Given the description of an element on the screen output the (x, y) to click on. 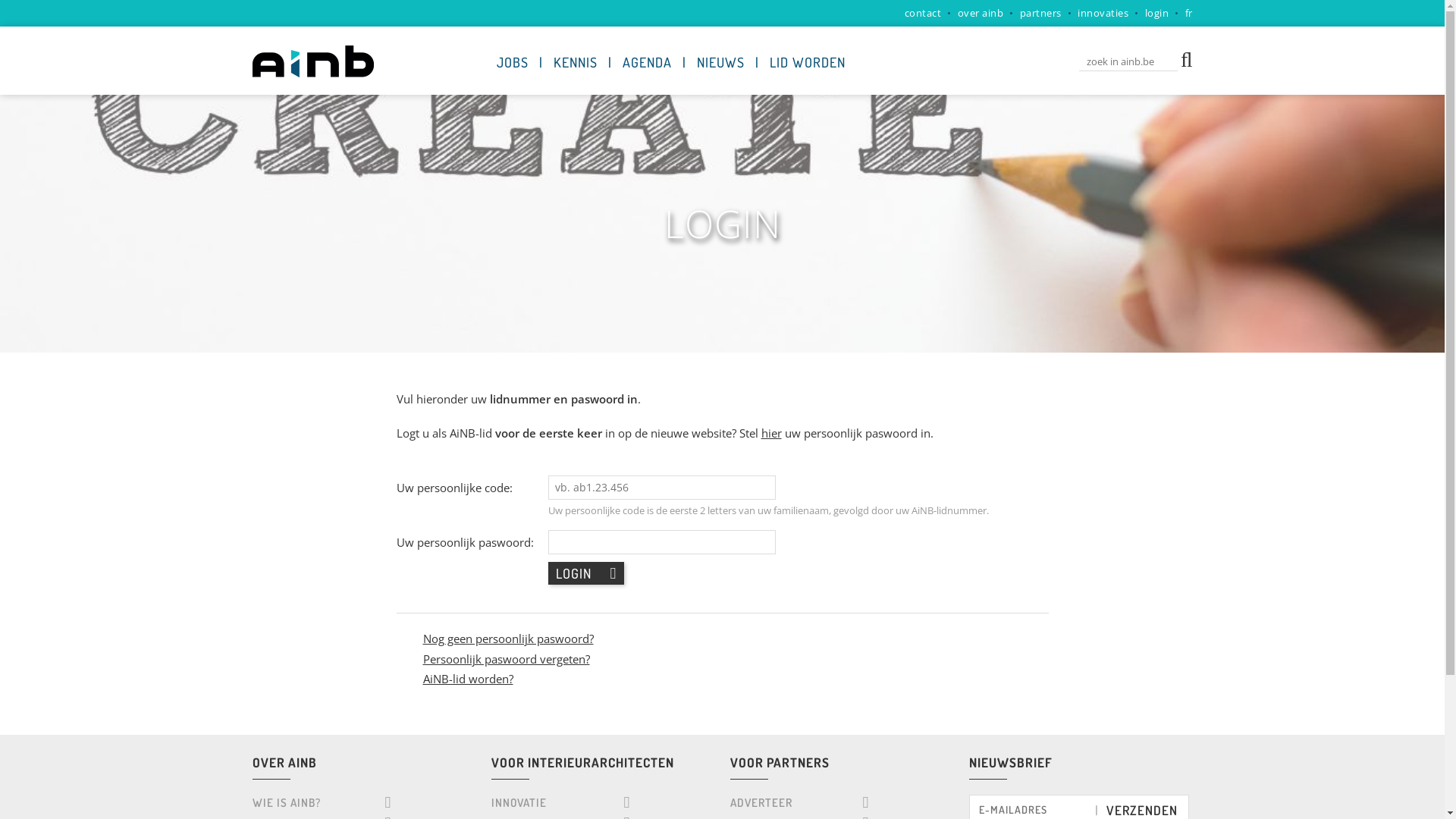
Zoek op website Element type: hover (1186, 57)
partners Element type: text (1039, 12)
fr Element type: text (1188, 12)
innovaties Element type: text (1102, 12)
login Element type: text (1157, 12)
ADVERTEER Element type: text (799, 801)
KENNIS Element type: text (575, 61)
LID WORDEN Element type: text (806, 61)
JOBS Element type: text (511, 61)
NIEUWS Element type: text (719, 61)
AiNB-lid worden? Element type: text (468, 678)
AGENDA Element type: text (646, 61)
over ainb Element type: text (980, 12)
hier Element type: text (771, 431)
AiNB, de Associatie van Interieurarchitecten Element type: hover (312, 61)
WIE IS AINB? Element type: text (321, 801)
Nog geen persoonlijk paswoord? Element type: text (508, 638)
Persoonlijk paswoord vergeten? Element type: text (506, 657)
contact Element type: text (922, 12)
AiNB, de Associatie van Interieurarchitecten Element type: hover (312, 72)
LOGIN Element type: text (585, 572)
INNOVATIE Element type: text (560, 801)
